Given the description of an element on the screen output the (x, y) to click on. 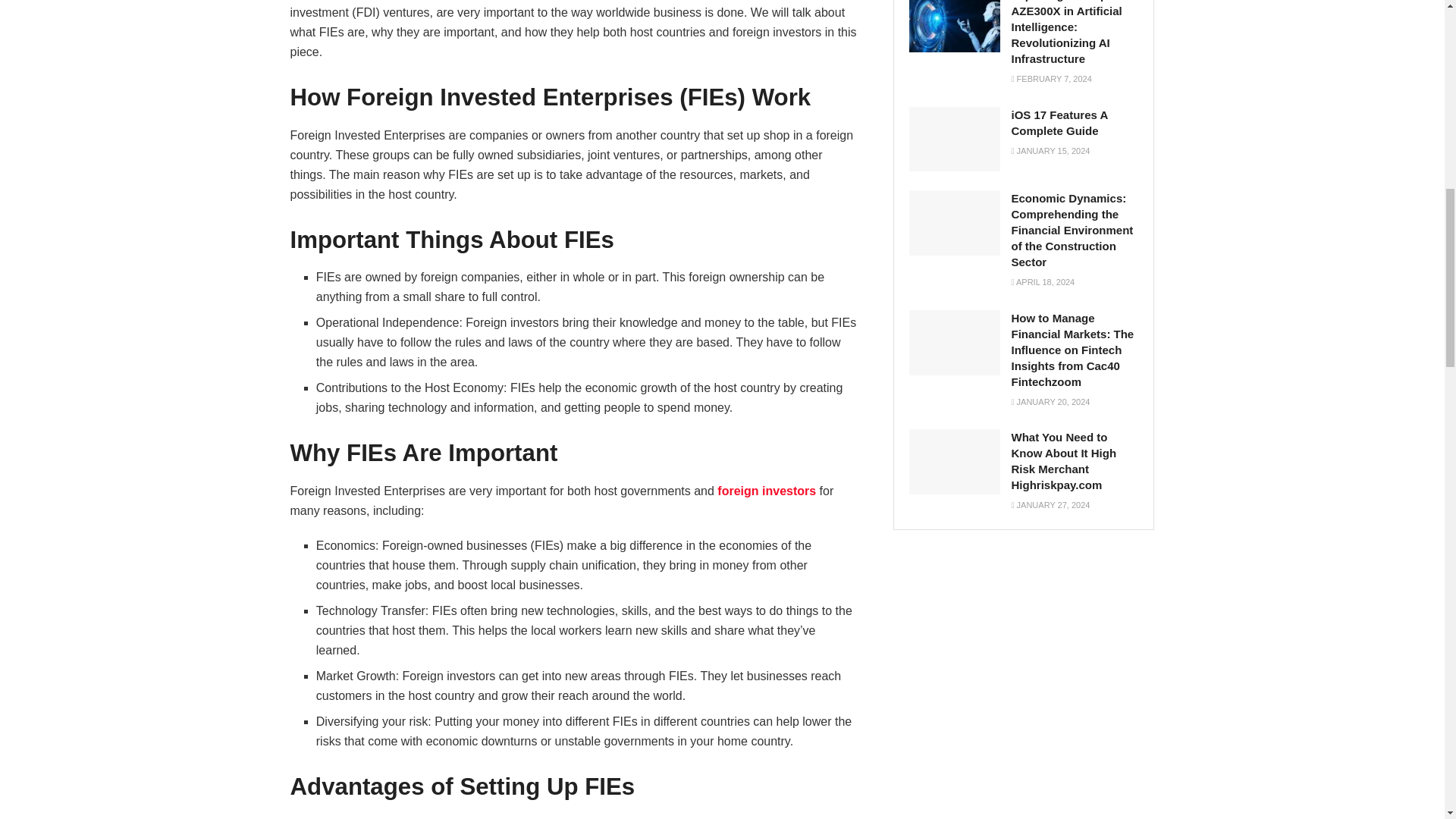
foreign investors (766, 490)
